Given the description of an element on the screen output the (x, y) to click on. 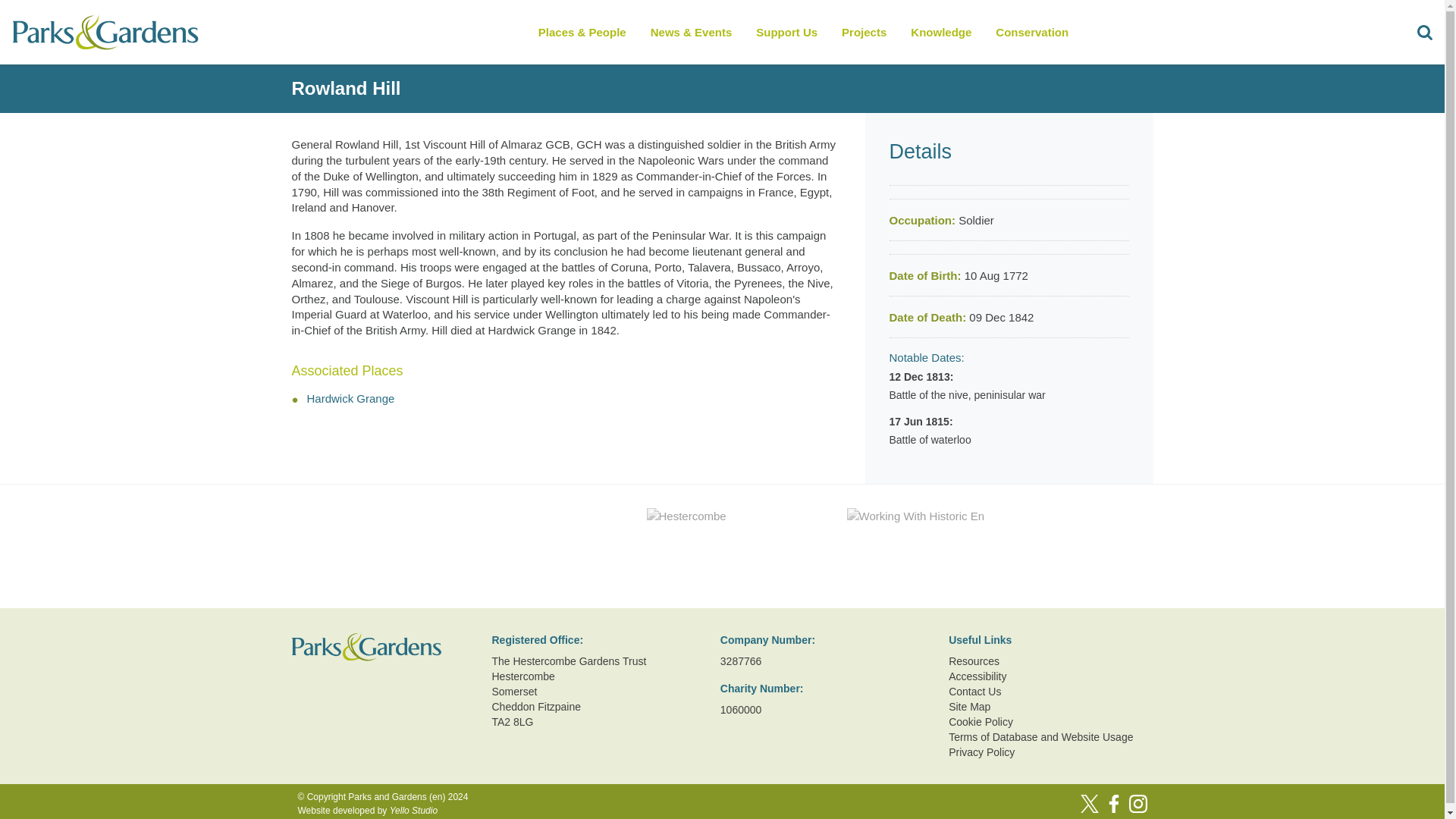
Cookie Policy (1051, 721)
Hardwick Grange (349, 398)
Designed and developed by Yello Studio (382, 810)
Website developed by Yello Studio (382, 810)
Privacy Policy (1051, 752)
Terms of Database and Website Usage (1051, 736)
Accessibility (1051, 676)
Projects (863, 32)
Site Map (1051, 706)
Knowledge (940, 32)
Conservation (1032, 32)
Support Us (786, 32)
Resources (1051, 661)
Contact Us (1051, 691)
